Given the description of an element on the screen output the (x, y) to click on. 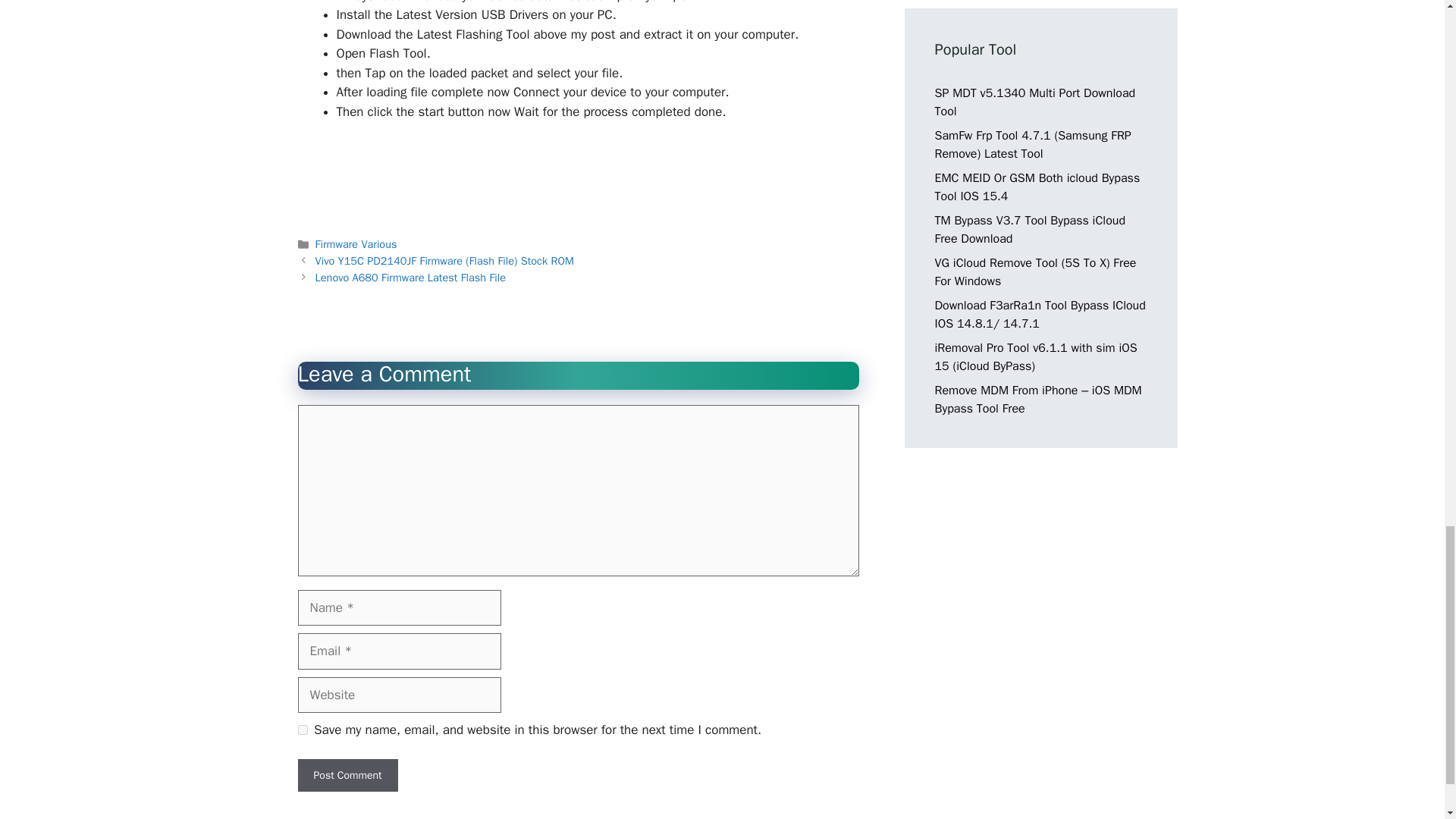
Post Comment (347, 775)
Lenovo A680 Firmware Latest Flash File (410, 277)
Advertisement (577, 174)
yes (302, 729)
Firmware Various (356, 243)
Post Comment (347, 775)
